Given the description of an element on the screen output the (x, y) to click on. 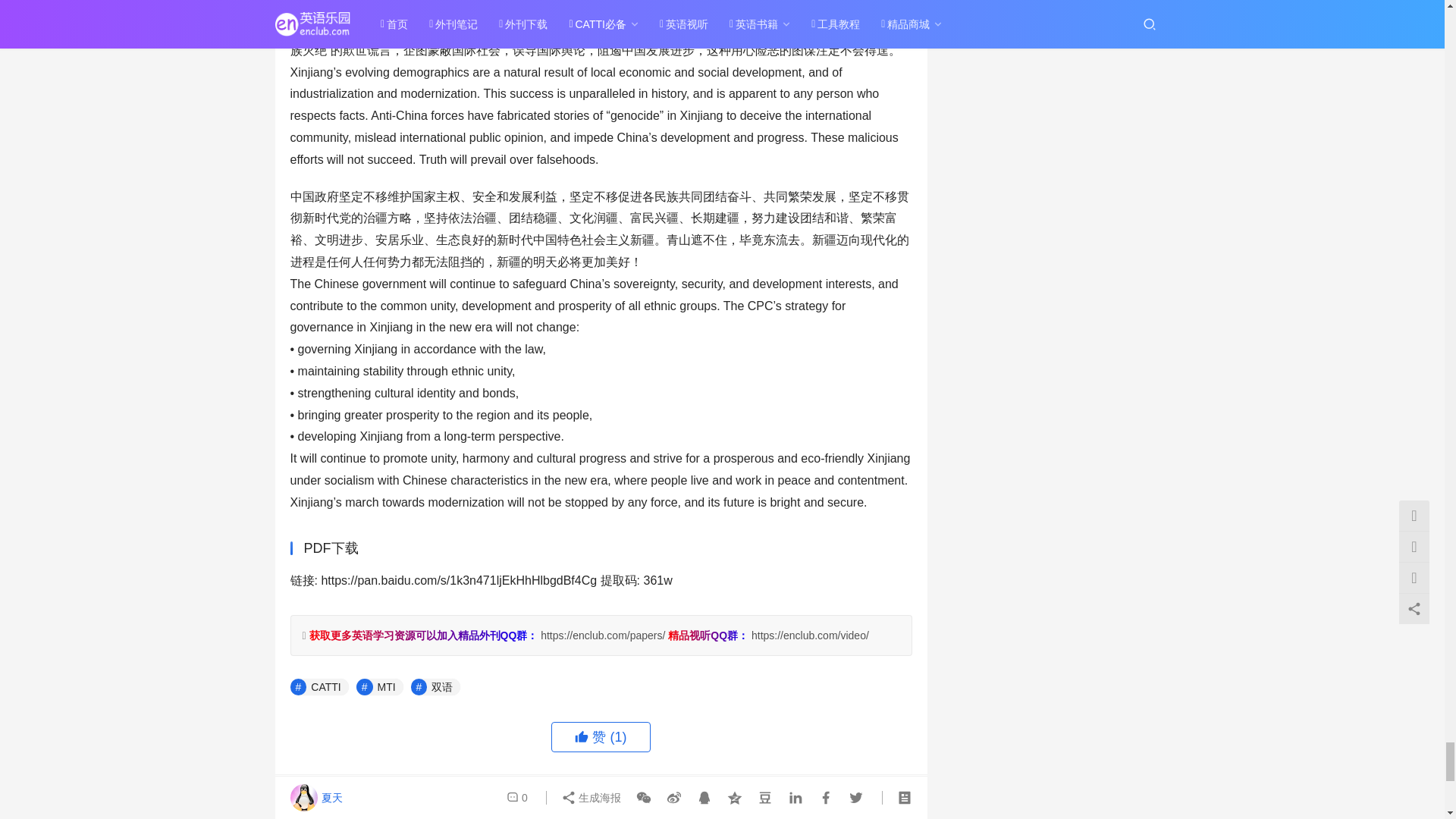
MTI (379, 686)
CATTI (318, 686)
